Given the description of an element on the screen output the (x, y) to click on. 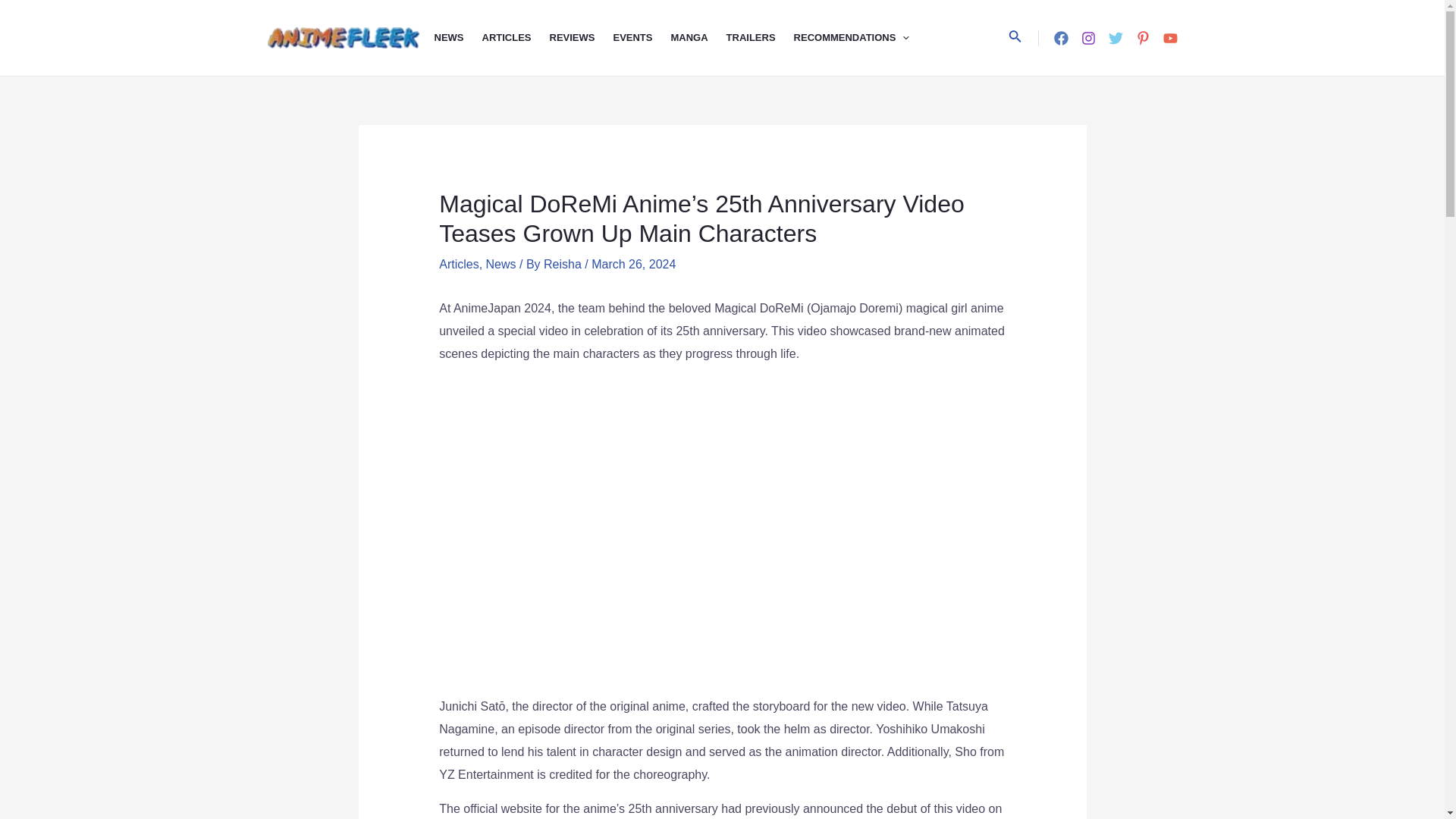
TRAILERS (759, 38)
News (501, 264)
RECOMMENDATIONS (860, 38)
Articles (459, 264)
ARTICLES (515, 38)
Reisha (564, 264)
View all posts by Reisha (564, 264)
